Given the description of an element on the screen output the (x, y) to click on. 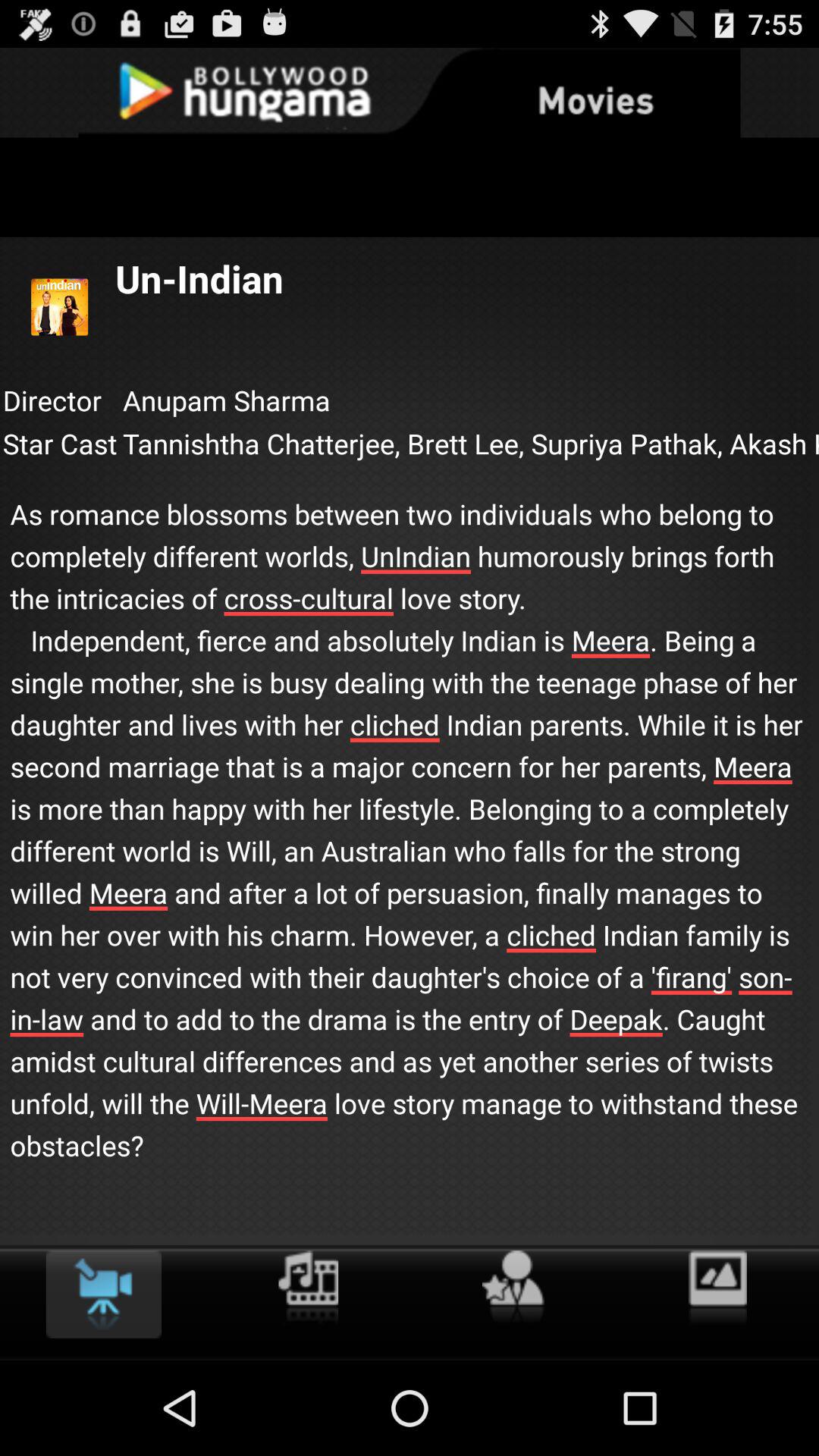
turn on the item below as romance blossoms (717, 1288)
